Given the description of an element on the screen output the (x, y) to click on. 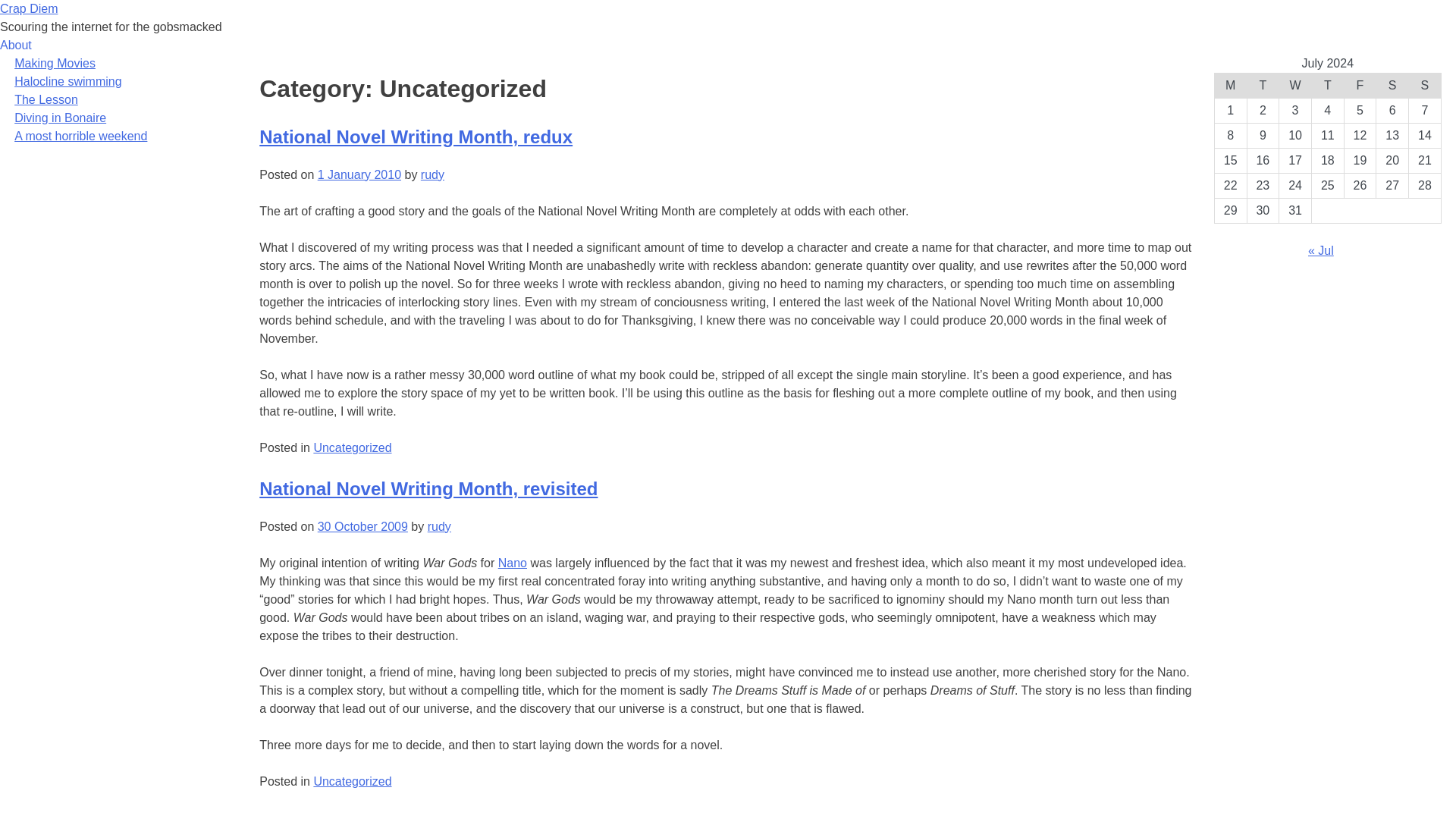
Sunday (1425, 84)
Wednesday (1295, 84)
30 October 2009 (362, 526)
Uncategorized (352, 780)
National Novel Writing Month, revisited (427, 488)
Diving in Bonaire (60, 117)
rudy (439, 526)
About (16, 45)
Monday (1230, 84)
Nano (512, 562)
Uncategorized (352, 447)
Tuesday (1262, 84)
rudy (432, 174)
The Lesson (46, 99)
Halocline swimming (67, 81)
